Given the description of an element on the screen output the (x, y) to click on. 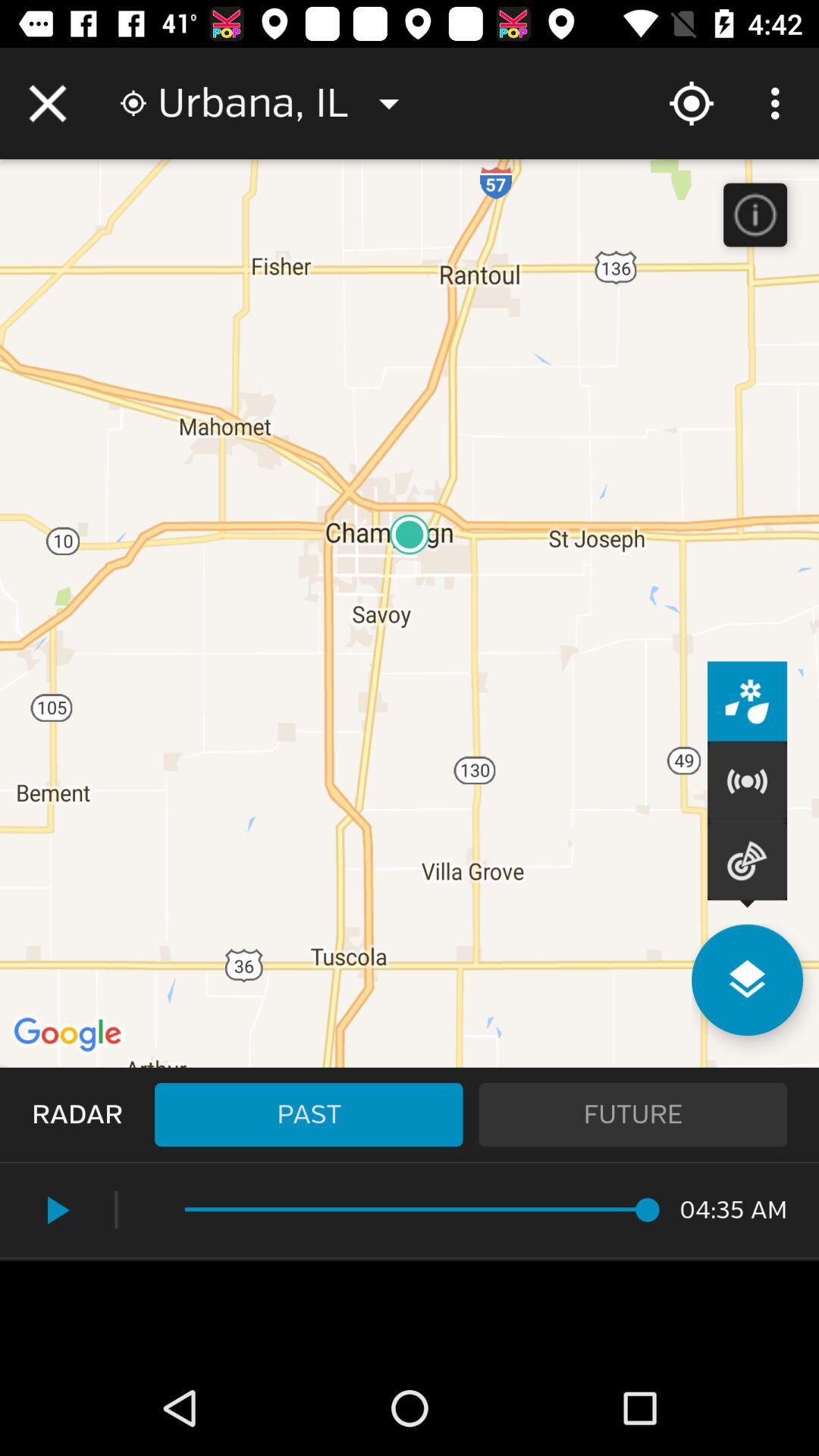
open information page (755, 214)
